Given the description of an element on the screen output the (x, y) to click on. 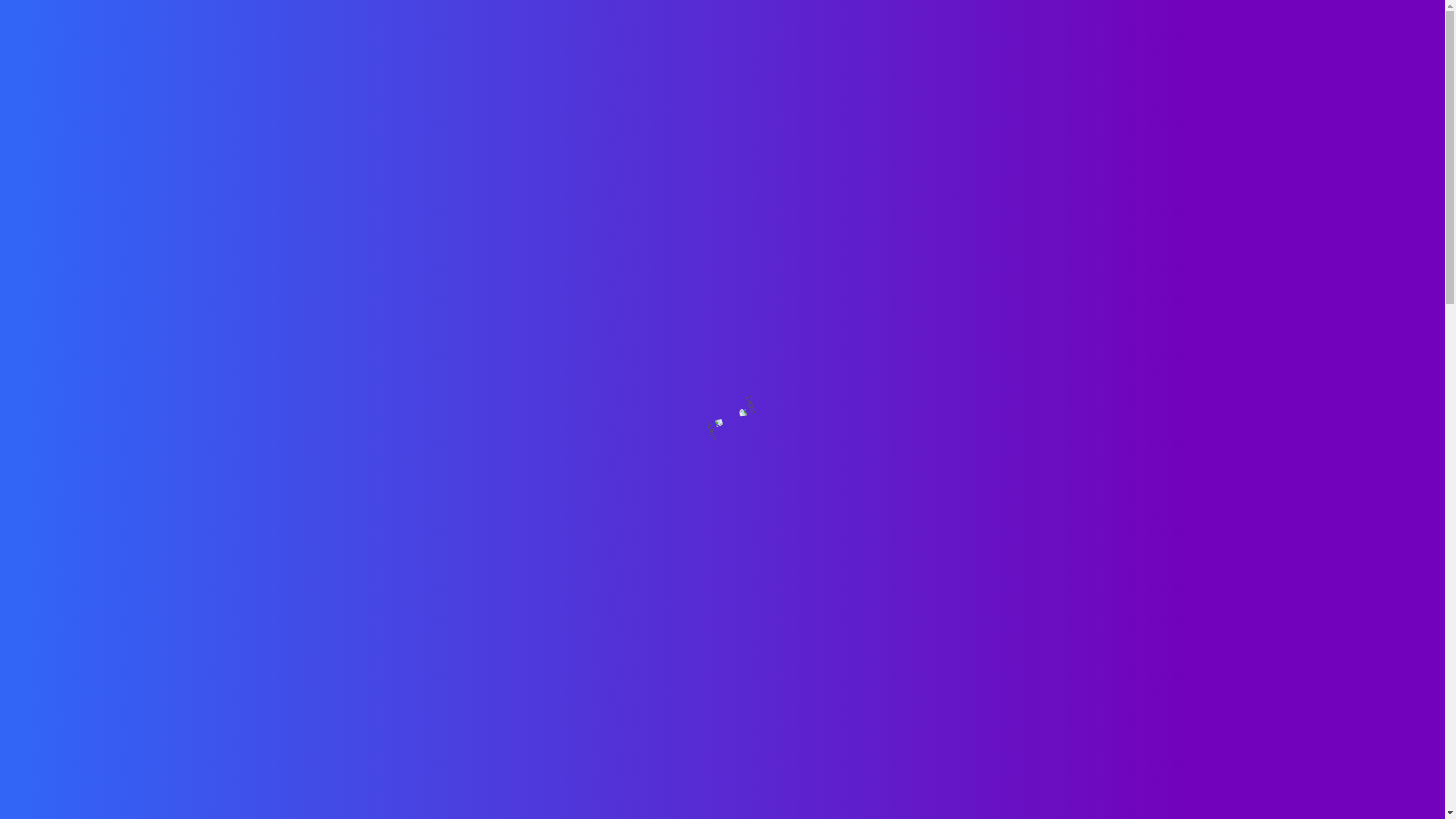
How To Start (1056, 732)
Shopping (743, 35)
Login (945, 35)
FAQ (1123, 35)
About Us (884, 35)
Blog (1056, 451)
Register (1056, 796)
